Given the description of an element on the screen output the (x, y) to click on. 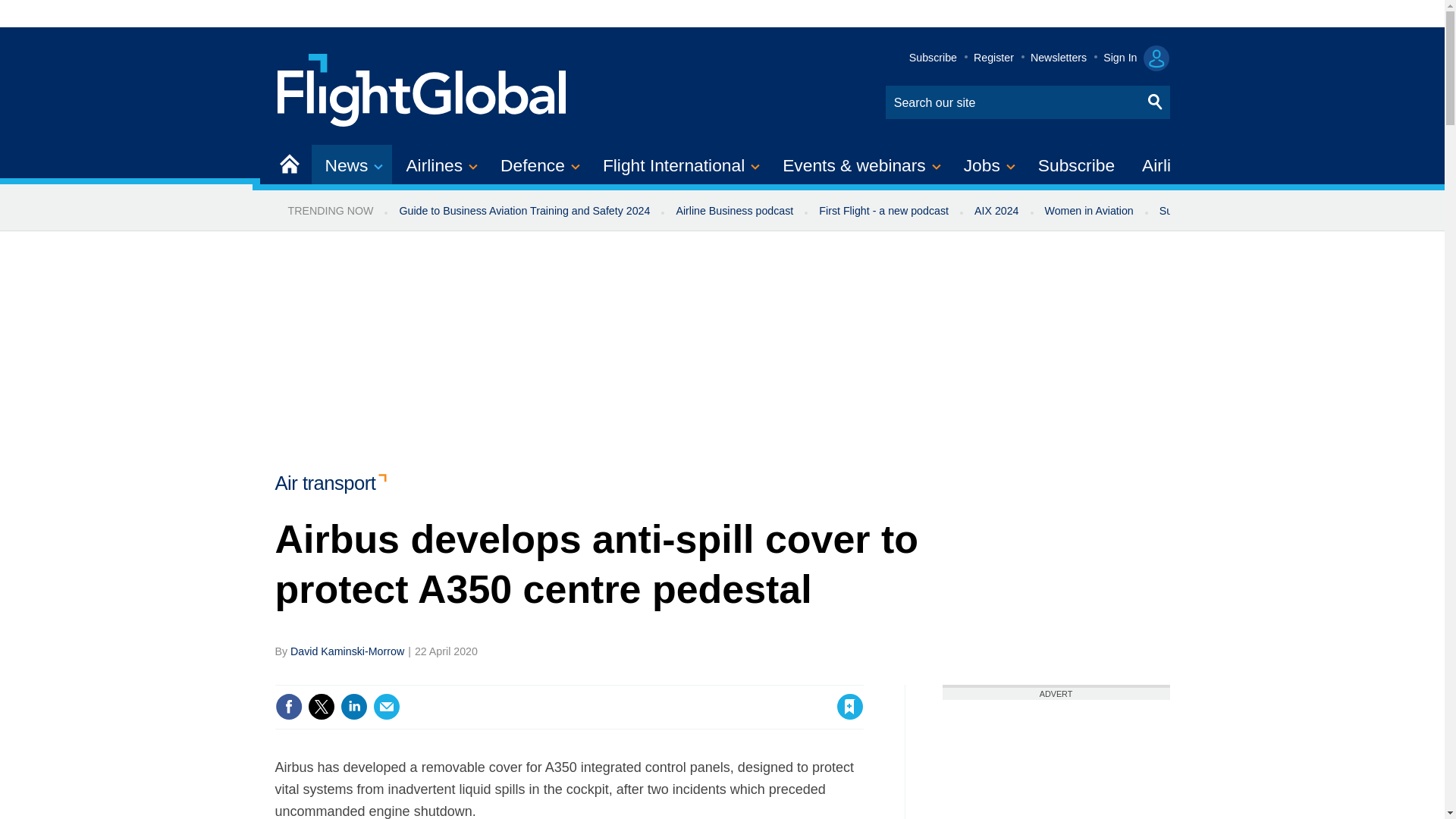
Sustainable Aviation newsletter (1234, 210)
First Flight - a new podcast (883, 210)
Guide to Business Aviation Training and Safety 2024 (523, 210)
Site name (422, 88)
Airline Business podcast (734, 210)
Share this on Twitter (320, 706)
AIX 2024 (996, 210)
3rd party ad content (1055, 759)
Email this article (386, 706)
Share this on Facebook (288, 706)
Women in Aviation (1089, 210)
Share this on Linked in (352, 706)
